Given the description of an element on the screen output the (x, y) to click on. 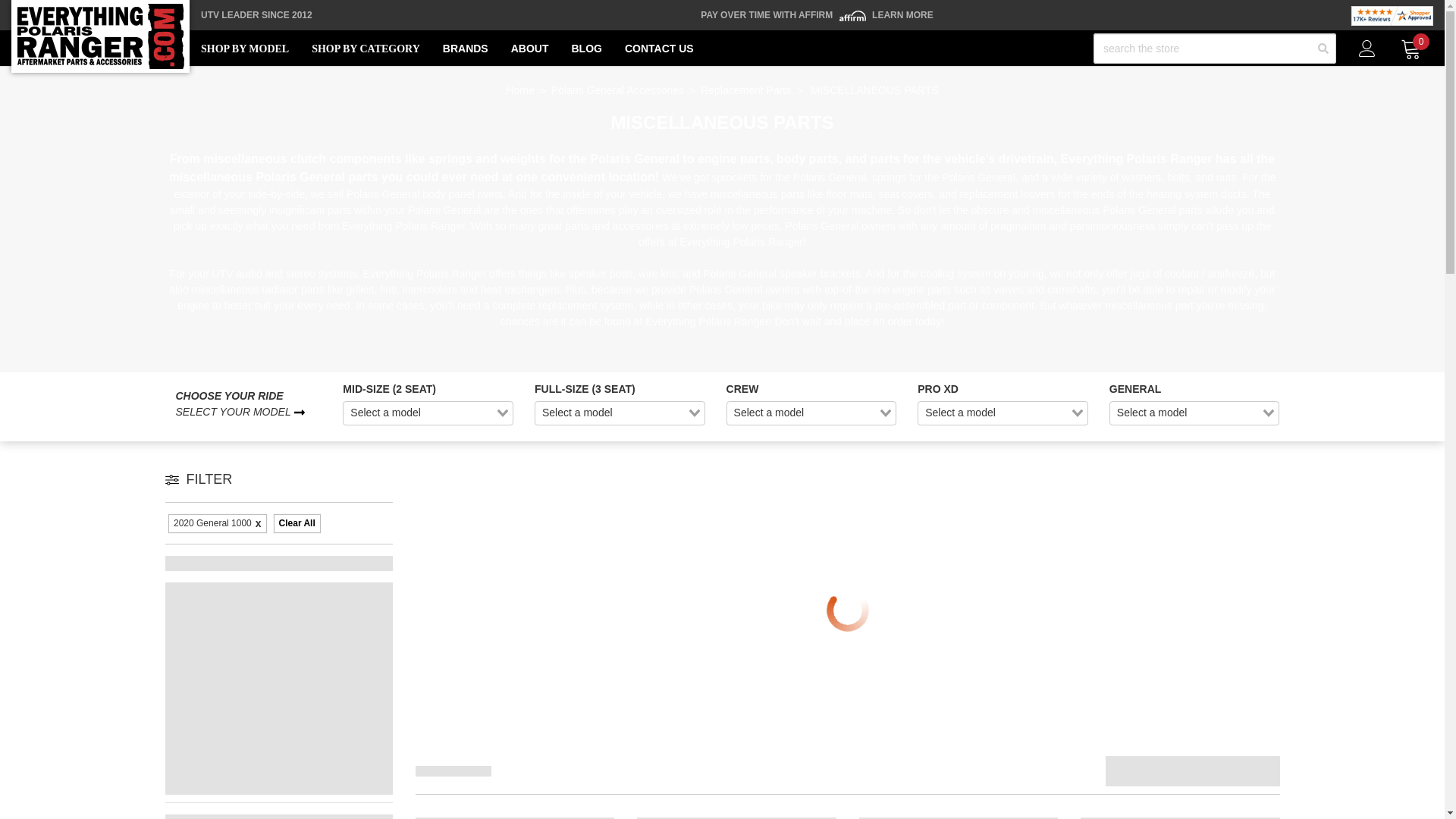
UTV LEADER SINCE 2012 (256, 14)
Everything Polaris Ranger (100, 36)
SHOP BY MODEL (244, 48)
LEARN MORE (902, 14)
